Given the description of an element on the screen output the (x, y) to click on. 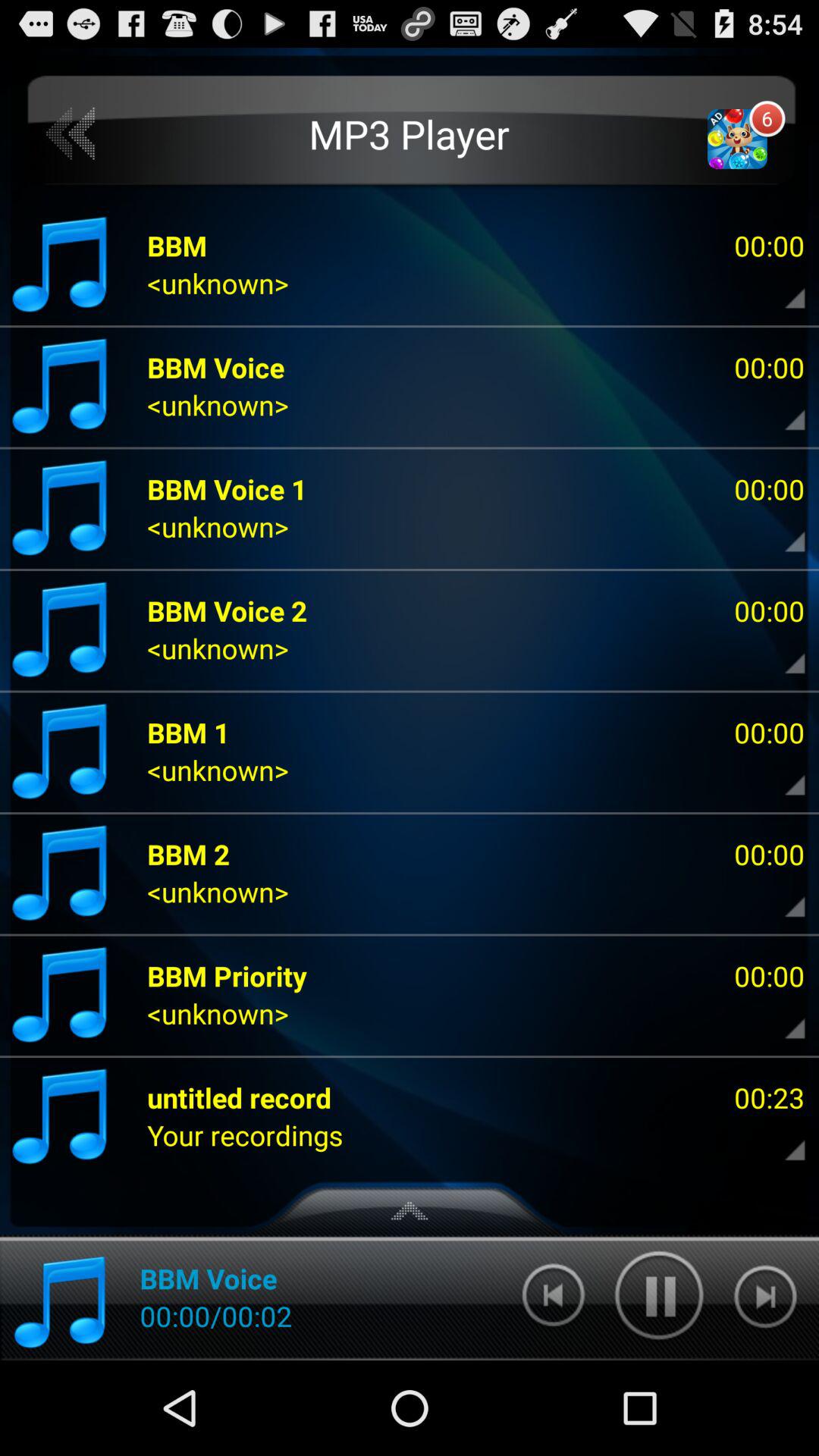
tap item to the left of the mp3 player app (71, 133)
